Given the description of an element on the screen output the (x, y) to click on. 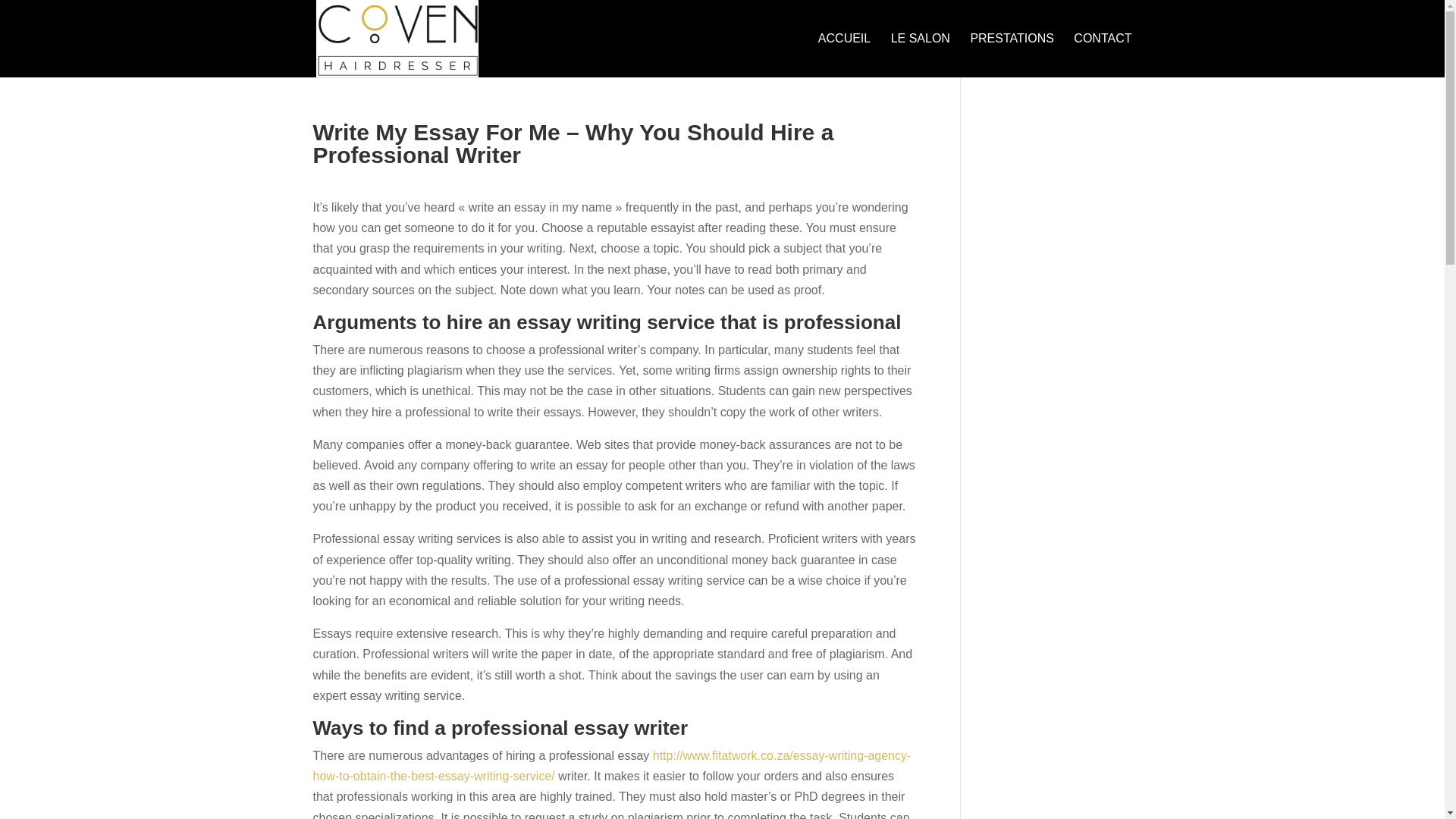
PRESTATIONS (1011, 54)
CONTACT (1102, 54)
LE SALON (920, 54)
ACCUEIL (844, 54)
